Given the description of an element on the screen output the (x, y) to click on. 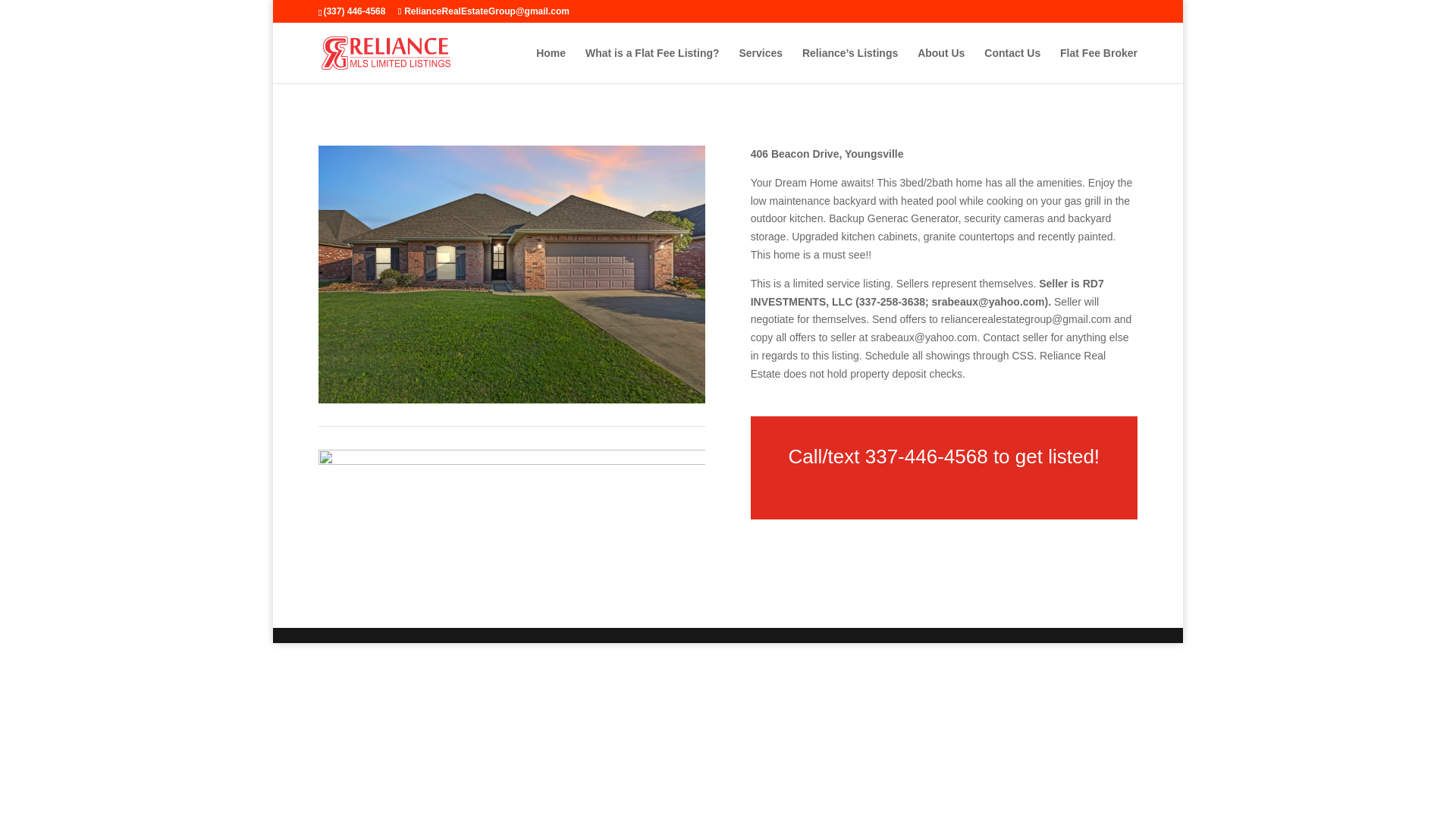
twilight (511, 274)
Services (760, 65)
What is a Flat Fee Listing? (652, 65)
About Us (940, 65)
Contact Us (1012, 65)
find-us-on-facebook-logo (511, 507)
Flat Fee Broker (1098, 65)
